Given the description of an element on the screen output the (x, y) to click on. 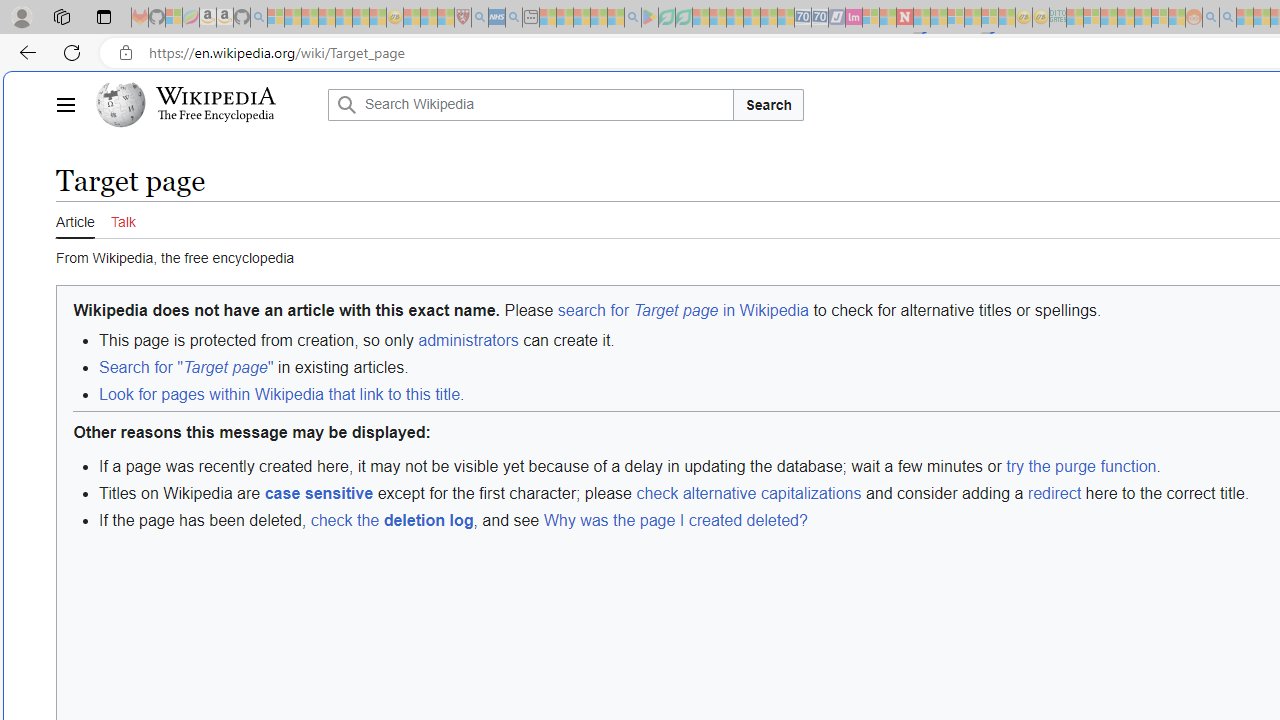
Terms of Use Agreement - Sleeping (666, 17)
Article (75, 219)
Latest Politics News & Archive | Newsweek.com - Sleeping (904, 17)
Expert Portfolios - Sleeping (1125, 17)
Recipes - MSN - Sleeping (411, 17)
Talk (122, 219)
Main menu (65, 104)
